Given the description of an element on the screen output the (x, y) to click on. 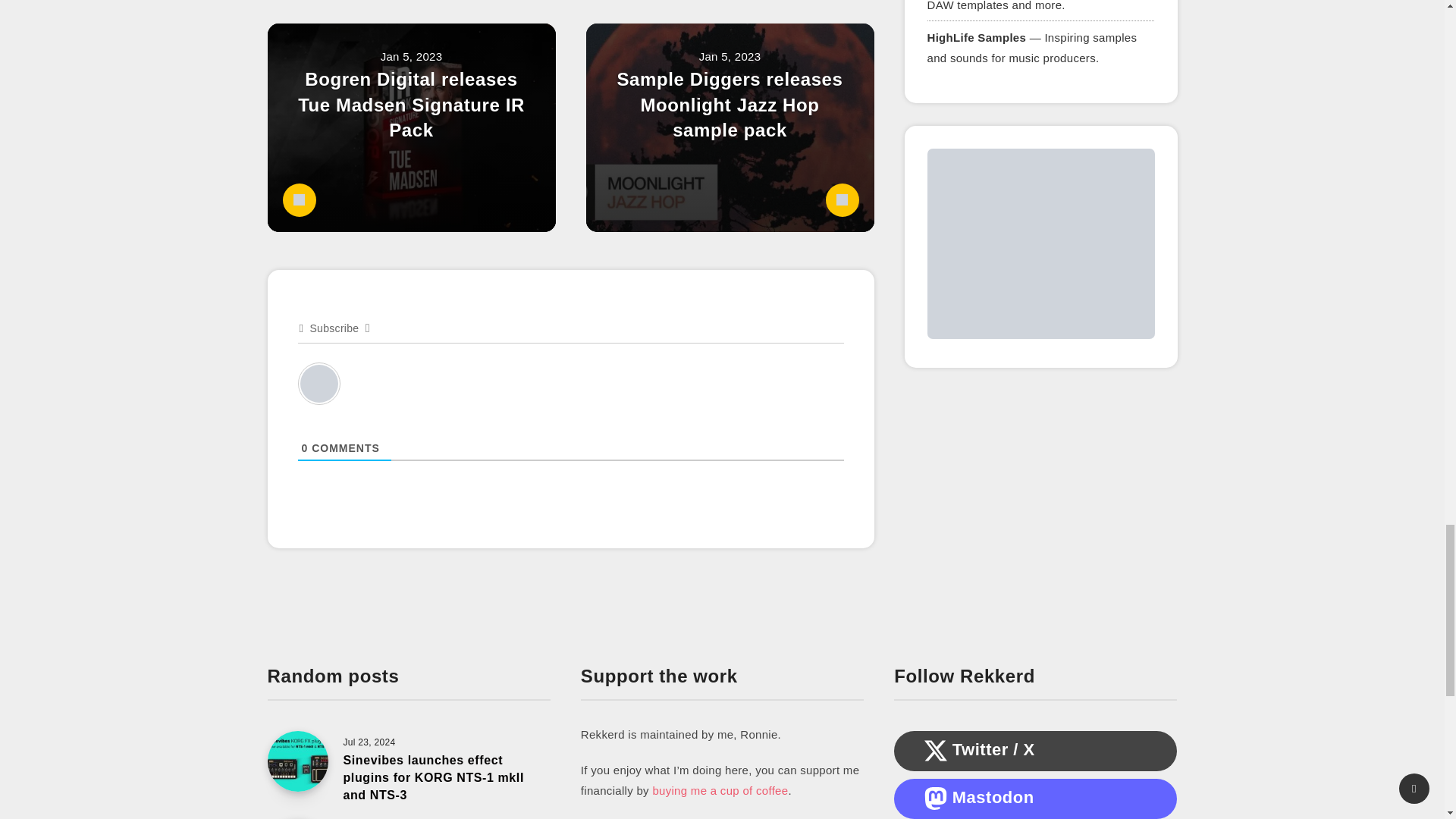
Mastodon (935, 798)
X (935, 750)
